Given the description of an element on the screen output the (x, y) to click on. 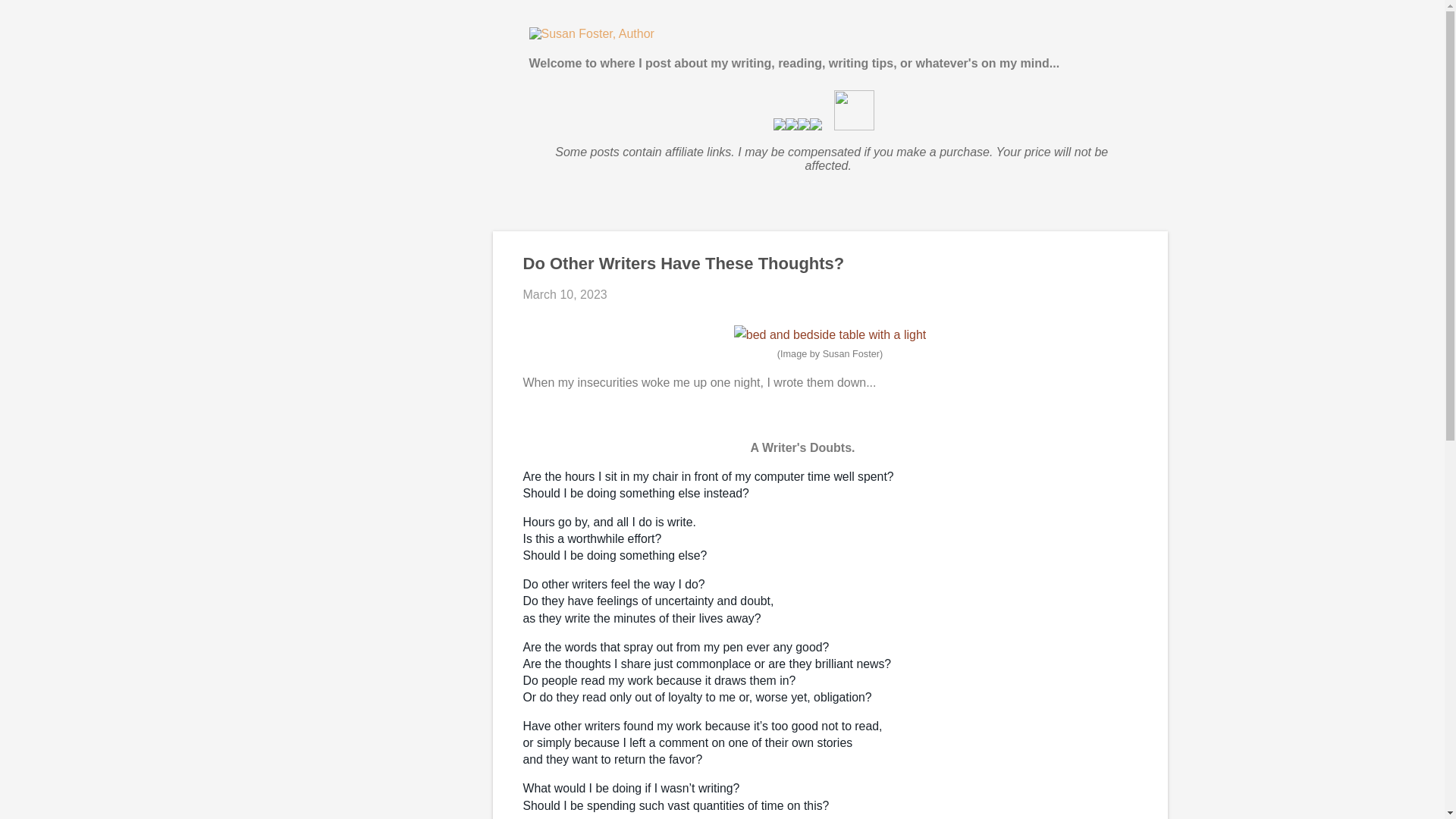
Search (32, 18)
permanent link (564, 294)
March 10, 2023 (564, 294)
